Given the description of an element on the screen output the (x, y) to click on. 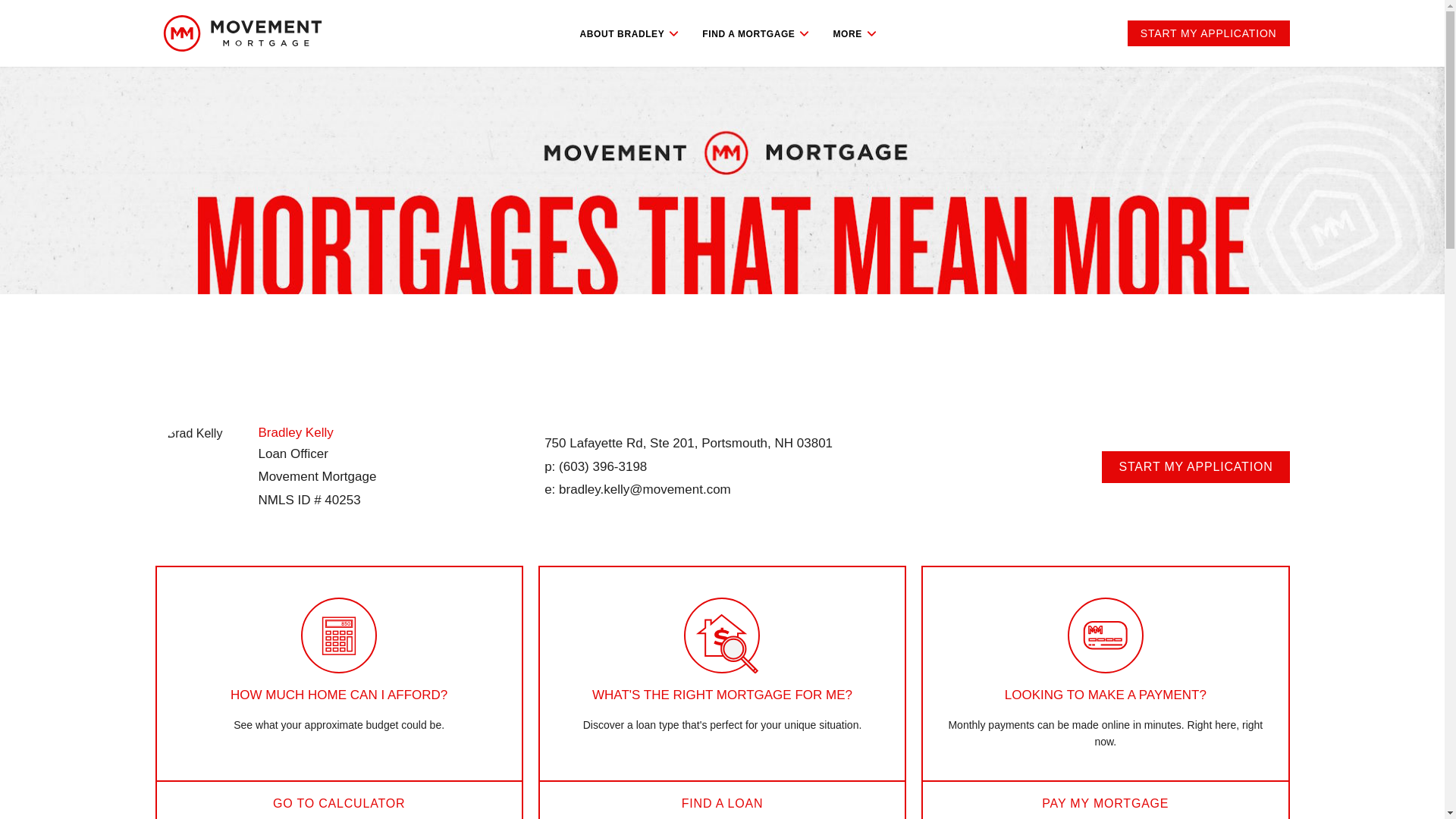
MORE (854, 33)
ABOUT BRADLEY (629, 33)
Movement Mortgage Logo (241, 32)
FIND A MORTGAGE (756, 33)
